Given the description of an element on the screen output the (x, y) to click on. 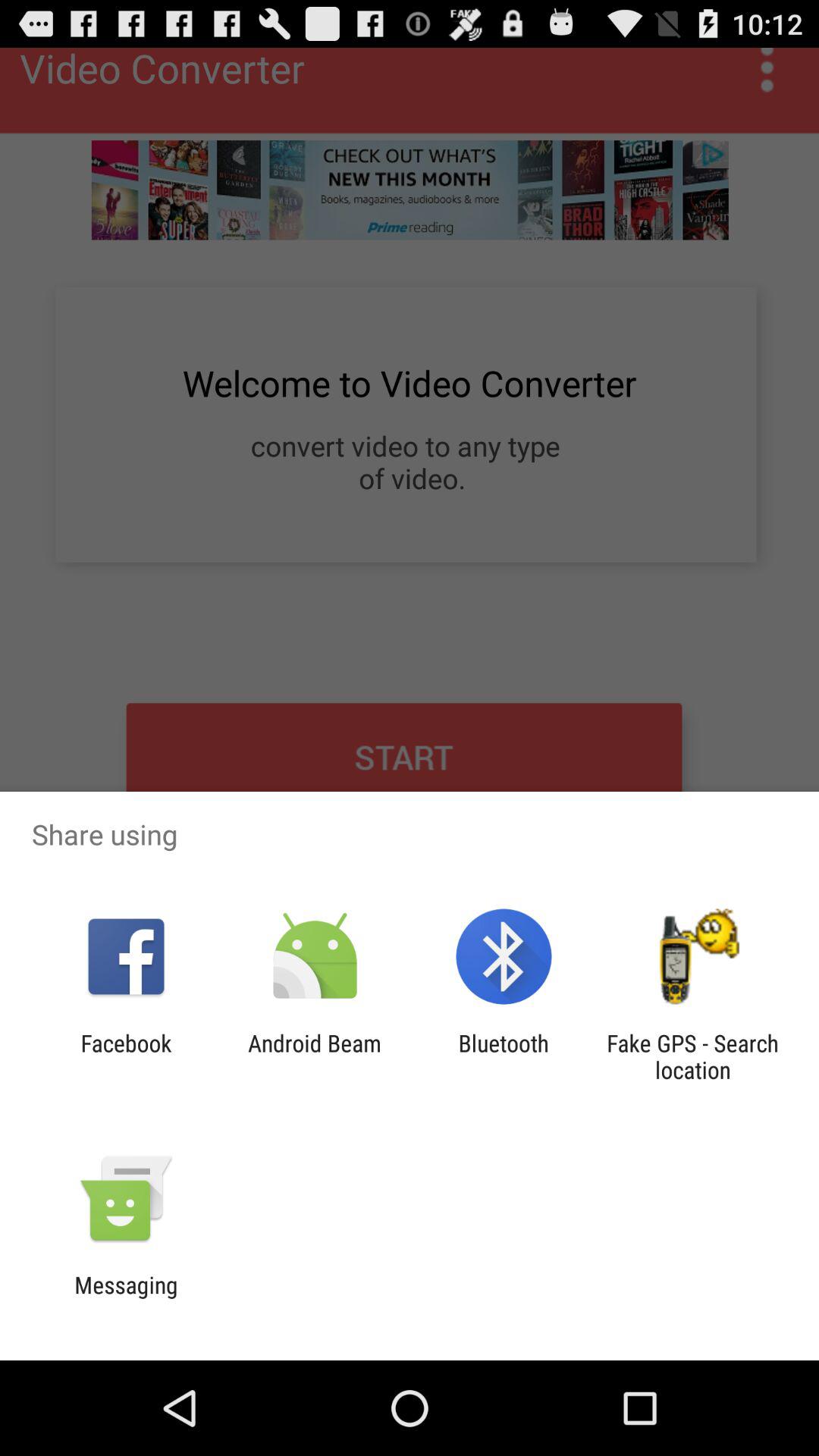
select the android beam (314, 1056)
